Given the description of an element on the screen output the (x, y) to click on. 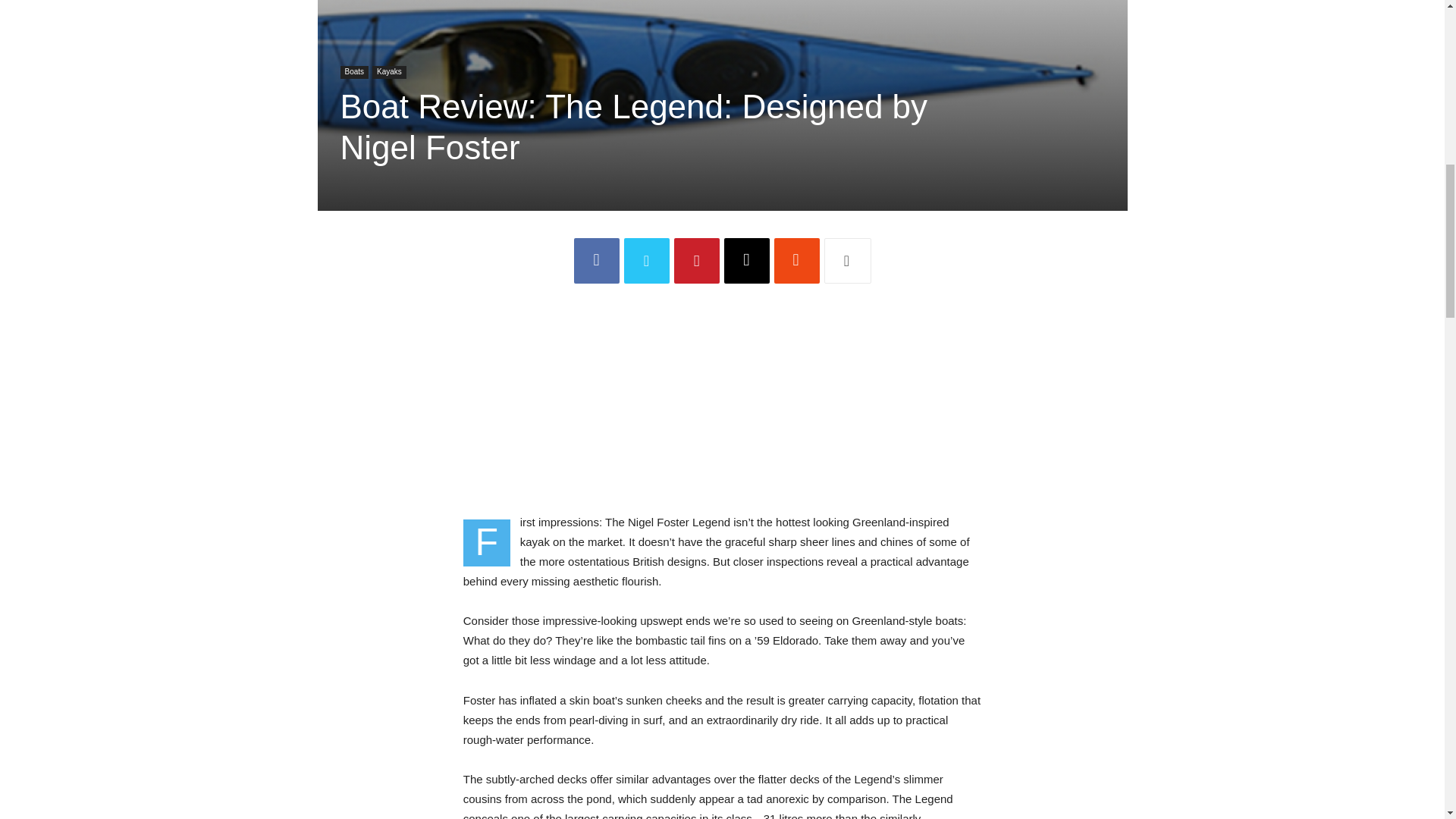
Twitter (645, 260)
Facebook (595, 260)
Mix (795, 260)
Pinterest (695, 260)
Email (745, 260)
